Given the description of an element on the screen output the (x, y) to click on. 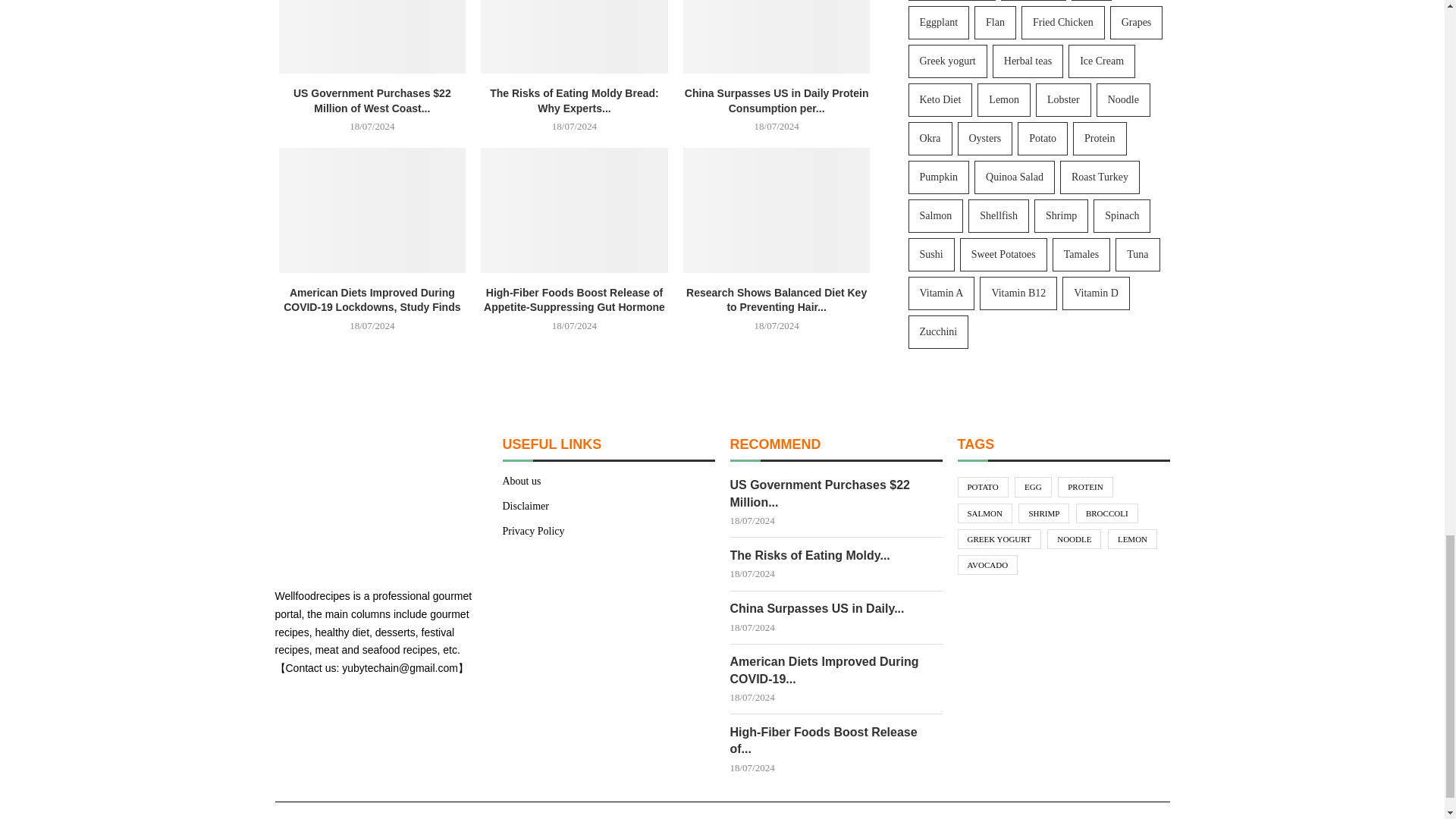
Research Shows Balanced Diet Key to Preventing Hair Loss (776, 209)
